Given the description of an element on the screen output the (x, y) to click on. 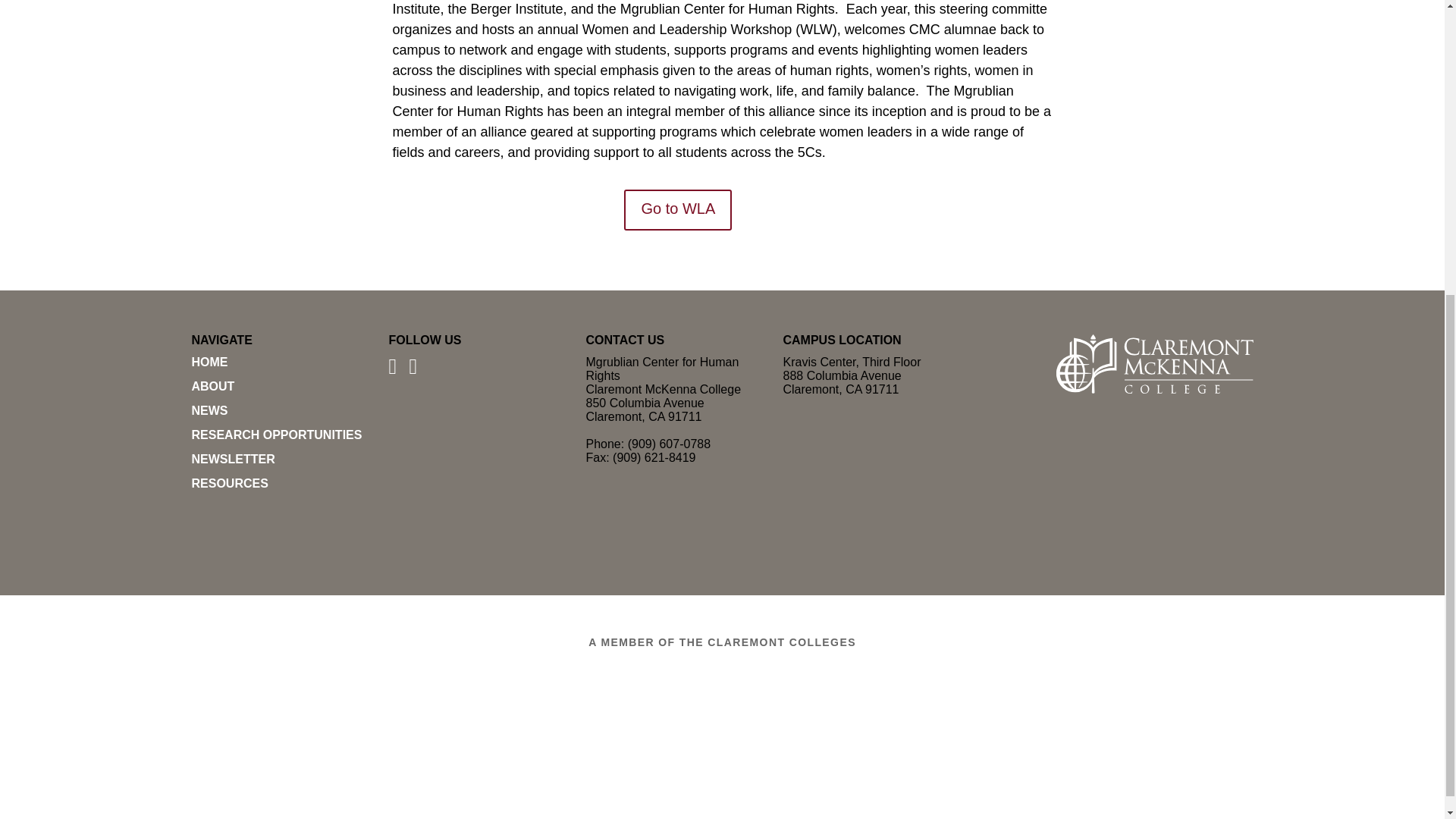
RESEARCH OPPORTUNITIES (275, 434)
NEWSLETTER (232, 459)
ABOUT (212, 386)
Claremont Graduate University (476, 703)
RESOURCES (228, 482)
Go to WLA (678, 209)
NEWS (208, 410)
HOME (208, 361)
